Given the description of an element on the screen output the (x, y) to click on. 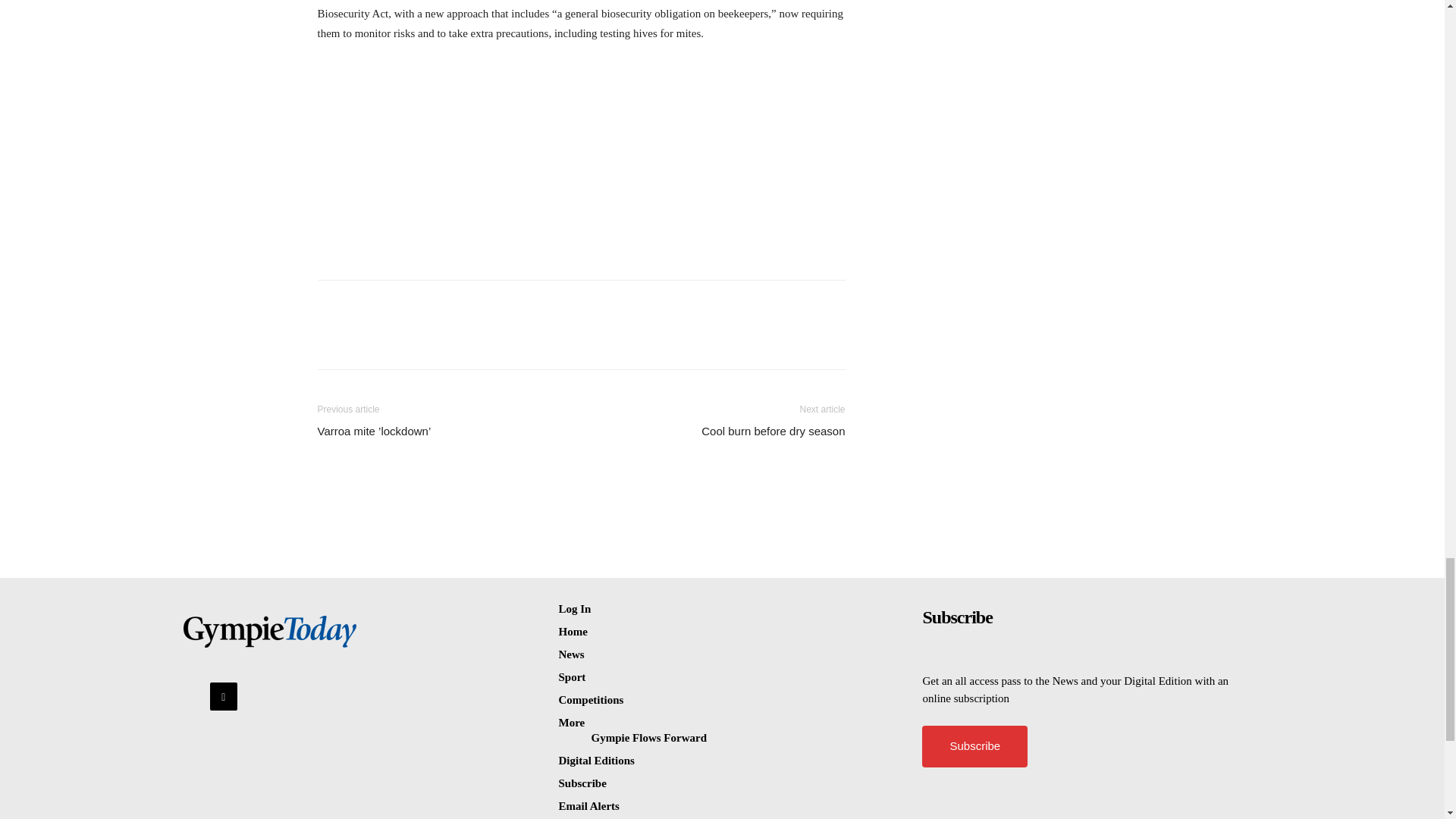
bottomFacebookLike (430, 304)
